Given the description of an element on the screen output the (x, y) to click on. 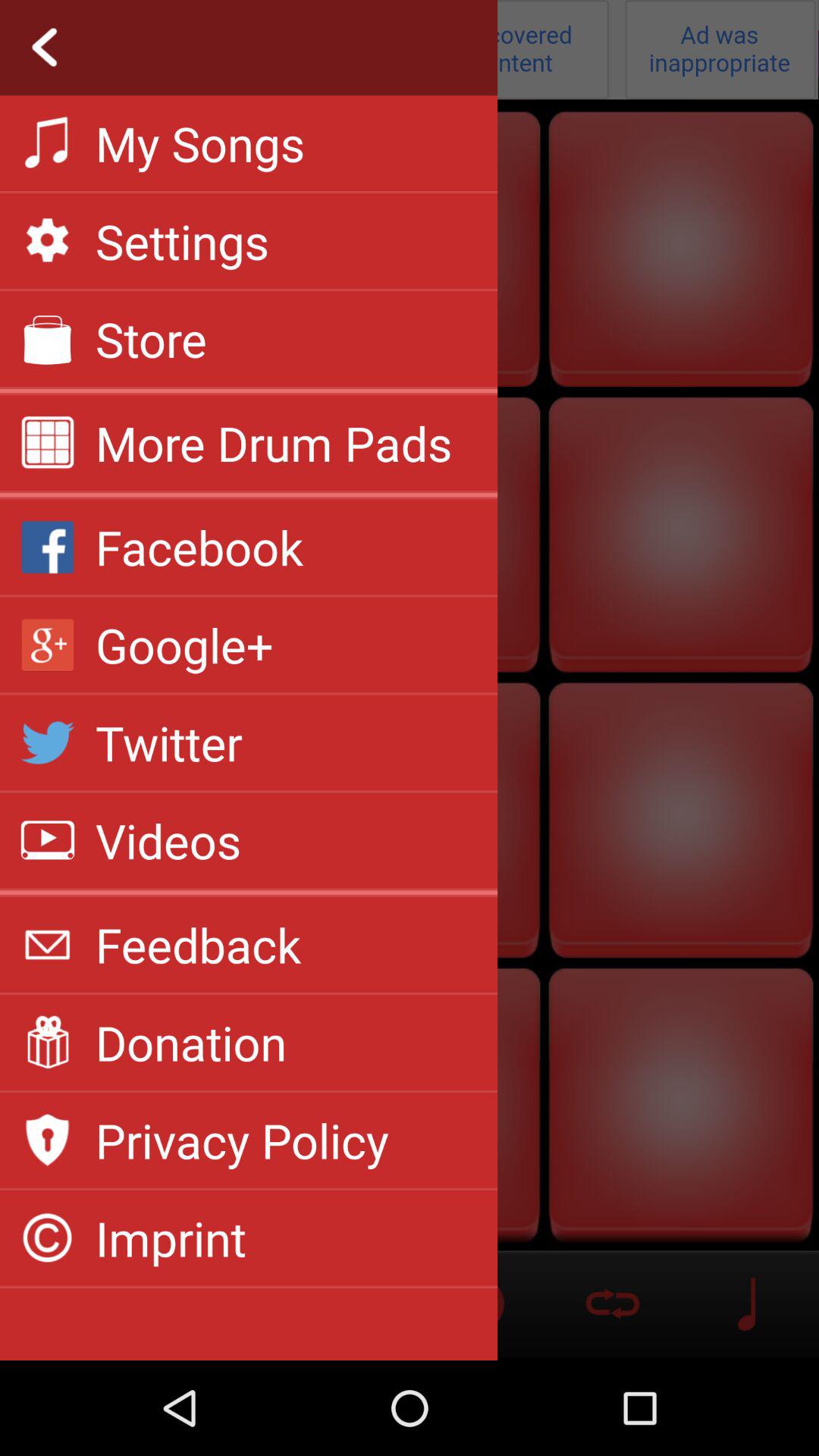
turn off privacy policy (242, 1140)
